Given the description of an element on the screen output the (x, y) to click on. 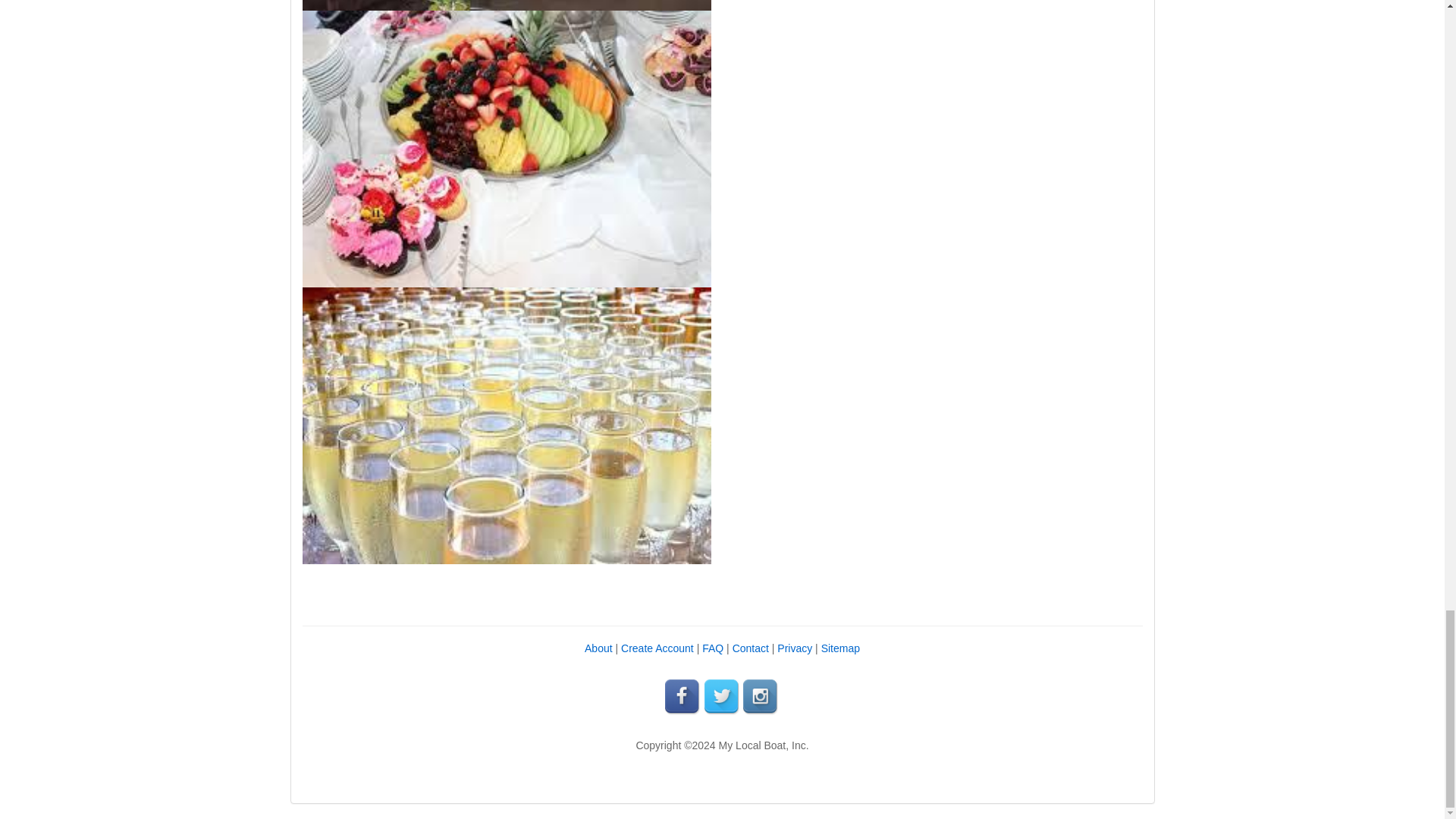
Follow on Twitter (721, 696)
Follow on Facebook (683, 696)
Follow on Instagram (760, 696)
